Given the description of an element on the screen output the (x, y) to click on. 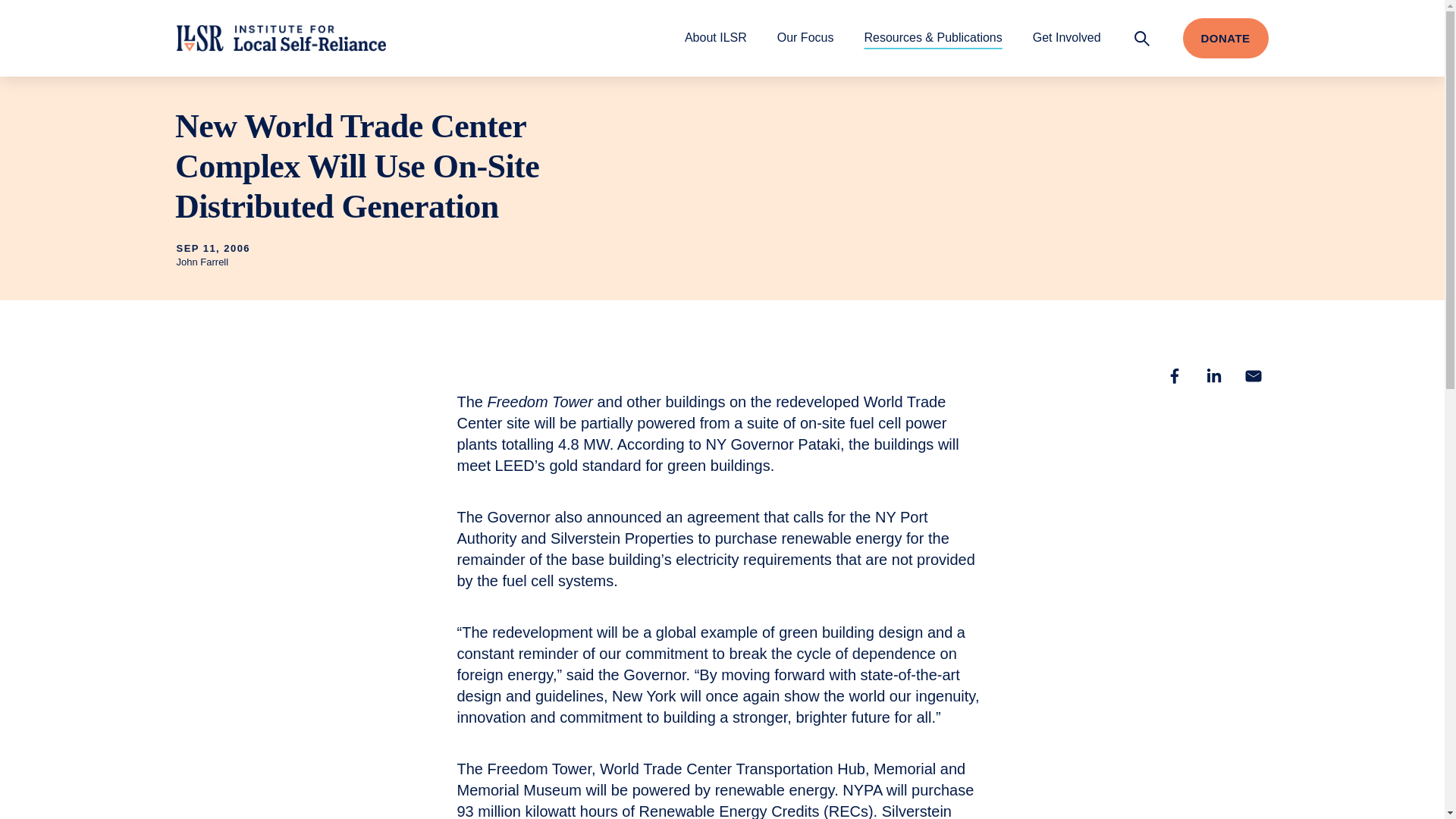
LINKEDIN (1213, 376)
ILSR (280, 38)
Our Focus (805, 37)
FACEBOOK (1173, 376)
DONATE (1225, 38)
About ILSR (715, 37)
SEARCH (1142, 37)
EMAIL (1252, 376)
Get Involved (1066, 37)
